Given the description of an element on the screen output the (x, y) to click on. 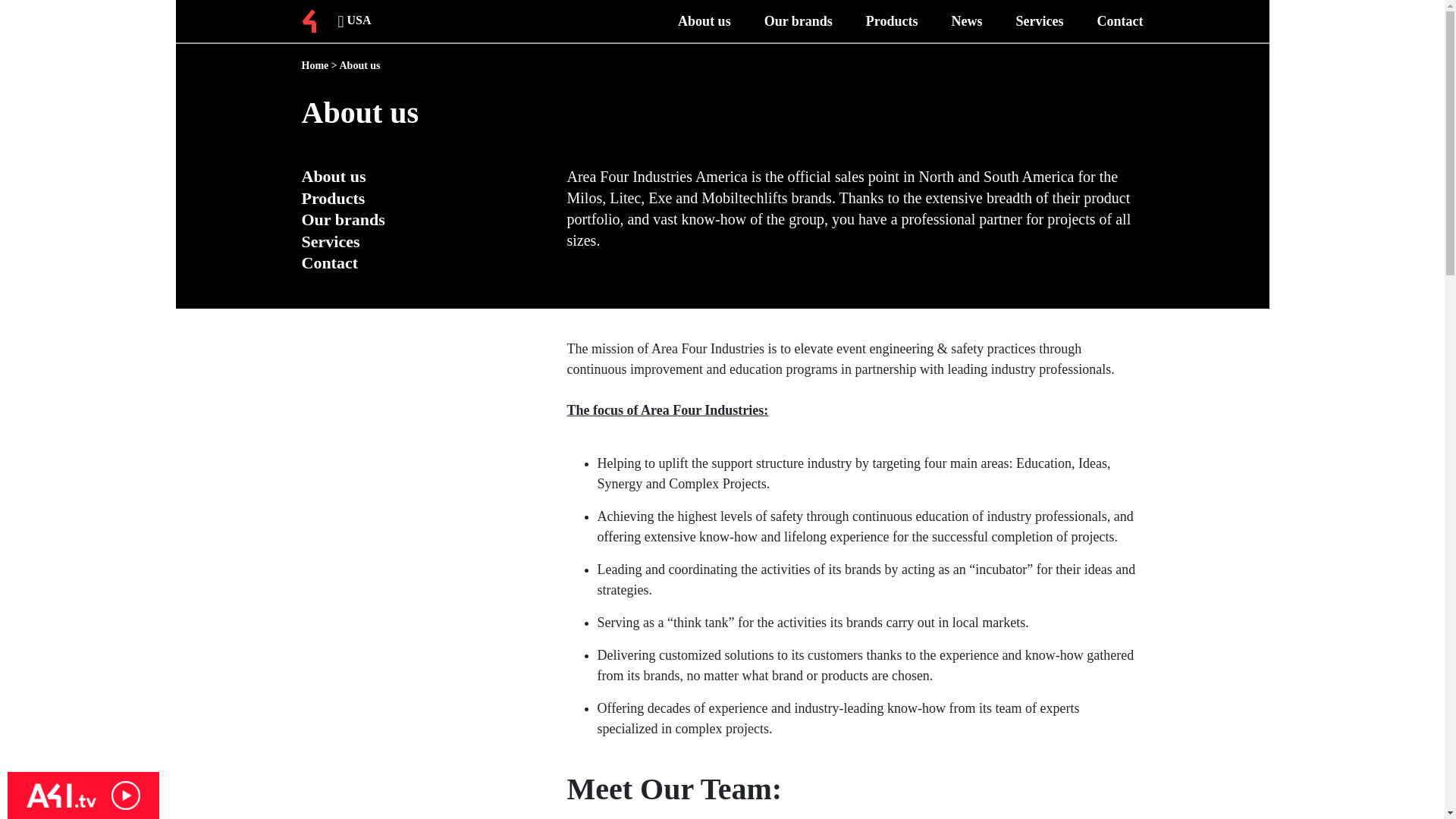
Our brands (343, 219)
About us (704, 21)
About us (333, 176)
Services (330, 240)
USA (352, 21)
Products (892, 21)
Products (333, 198)
Services (1040, 21)
Our brands (798, 21)
Contact (329, 262)
Home (315, 65)
